Given the description of an element on the screen output the (x, y) to click on. 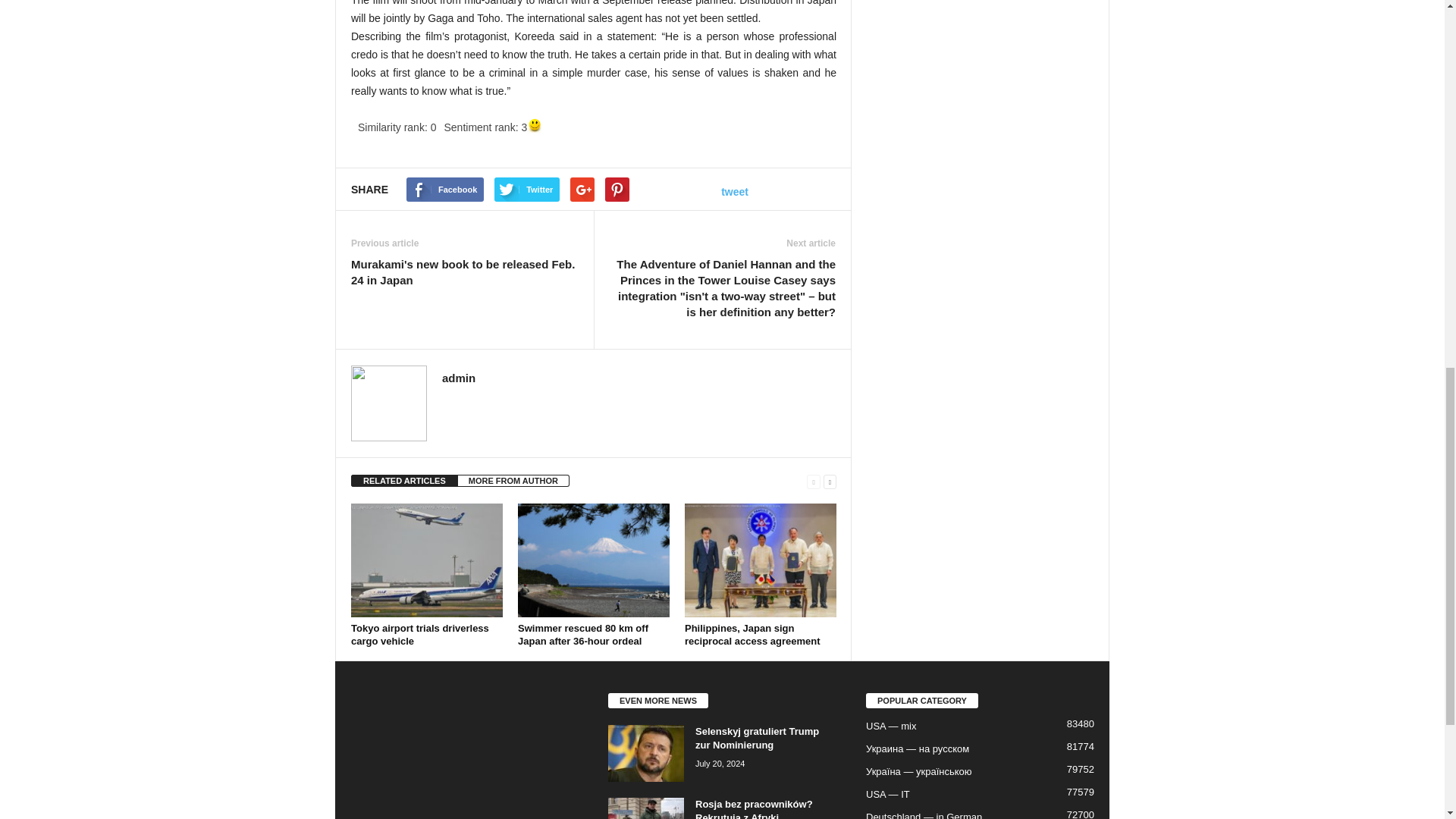
Tokyo airport trials driverless cargo vehicle (426, 560)
Tokyo airport trials driverless cargo vehicle (419, 634)
Swimmer rescued 80 km off Japan after 36-hour ordeal (593, 560)
